Given the description of an element on the screen output the (x, y) to click on. 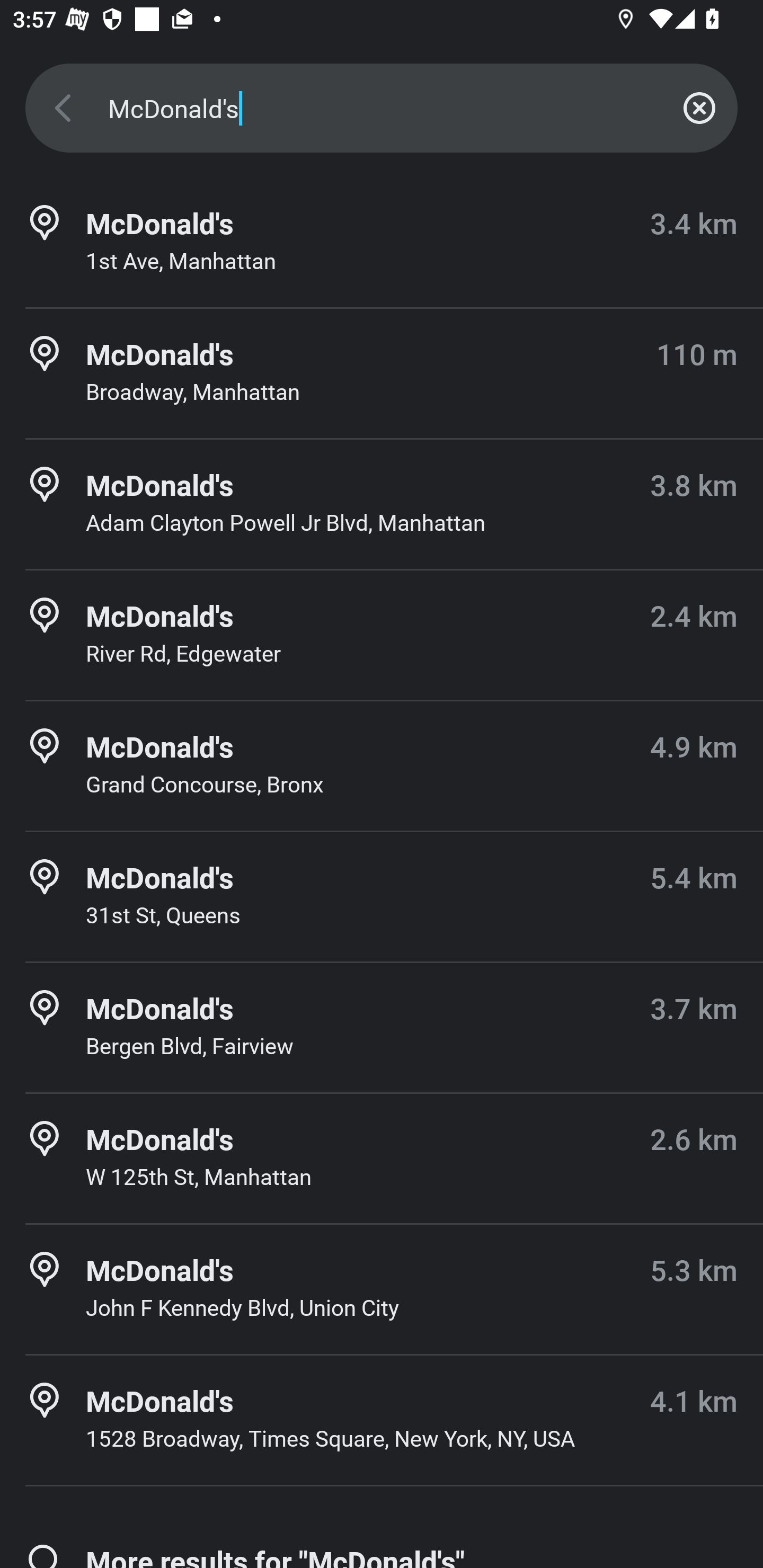
McDonald's SEARCH_SCREEN_SEARCH_FIELD (381, 108)
McDonald's 3.4 km 1st Ave, Manhattan (381, 242)
McDonald's 110 m Broadway, Manhattan (381, 372)
McDonald's 2.4 km River Rd, Edgewater (381, 634)
McDonald's 4.9 km Grand Concourse, Bronx (381, 765)
McDonald's 5.4 km 31st St, Queens (381, 896)
McDonald's 3.7 km Bergen Blvd, Fairview (381, 1027)
McDonald's 2.6 km W 125th St, Manhattan (381, 1158)
McDonald's 5.3 km John F Kennedy Blvd, Union City (381, 1289)
